Given the description of an element on the screen output the (x, y) to click on. 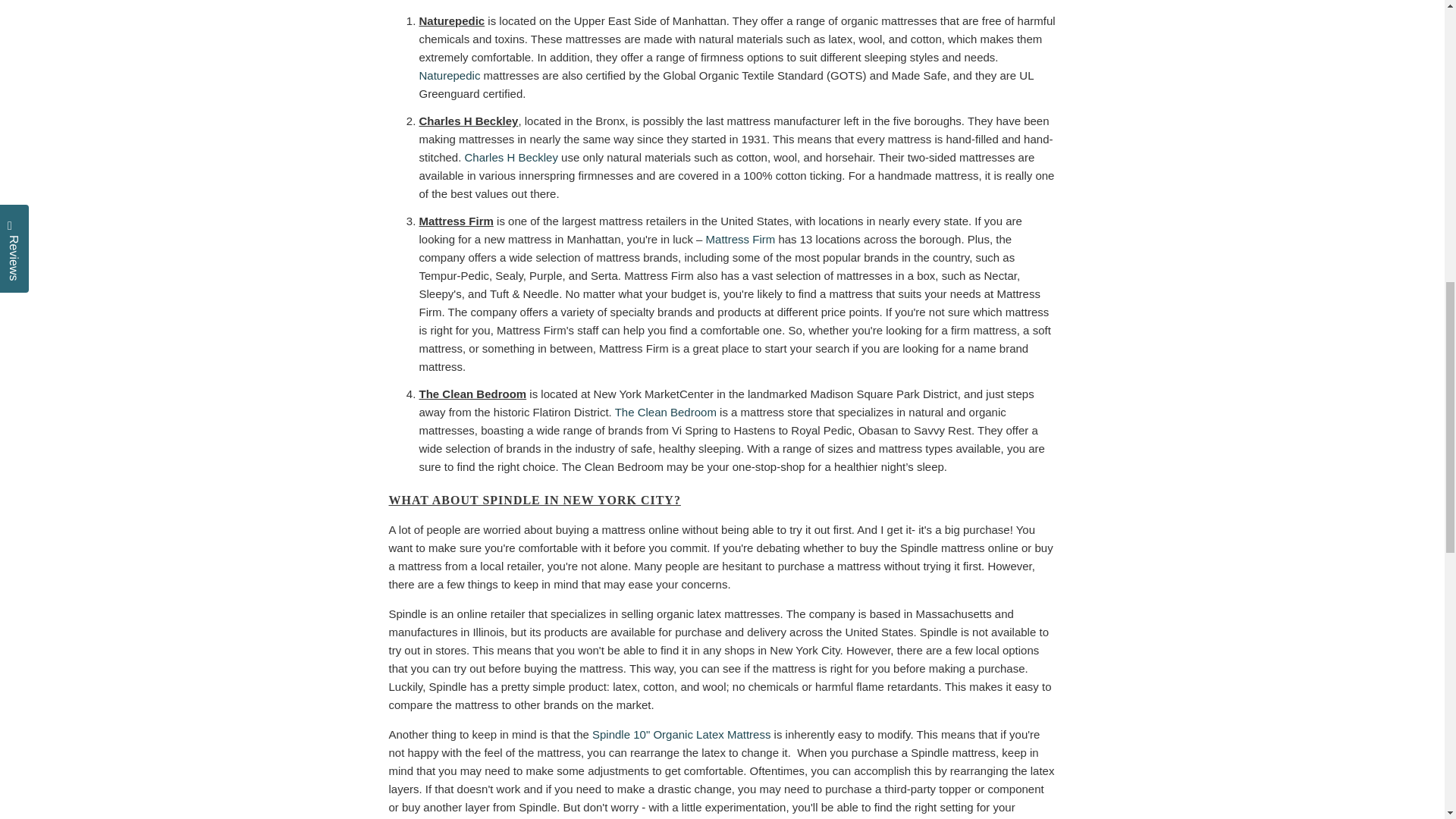
The Clean Bedroom (665, 411)
Shop for 10" Organic Latex Mattress (681, 734)
Mattress Firm New York (741, 238)
Charles H Beckley (510, 156)
Naturepedic (449, 74)
